Given the description of an element on the screen output the (x, y) to click on. 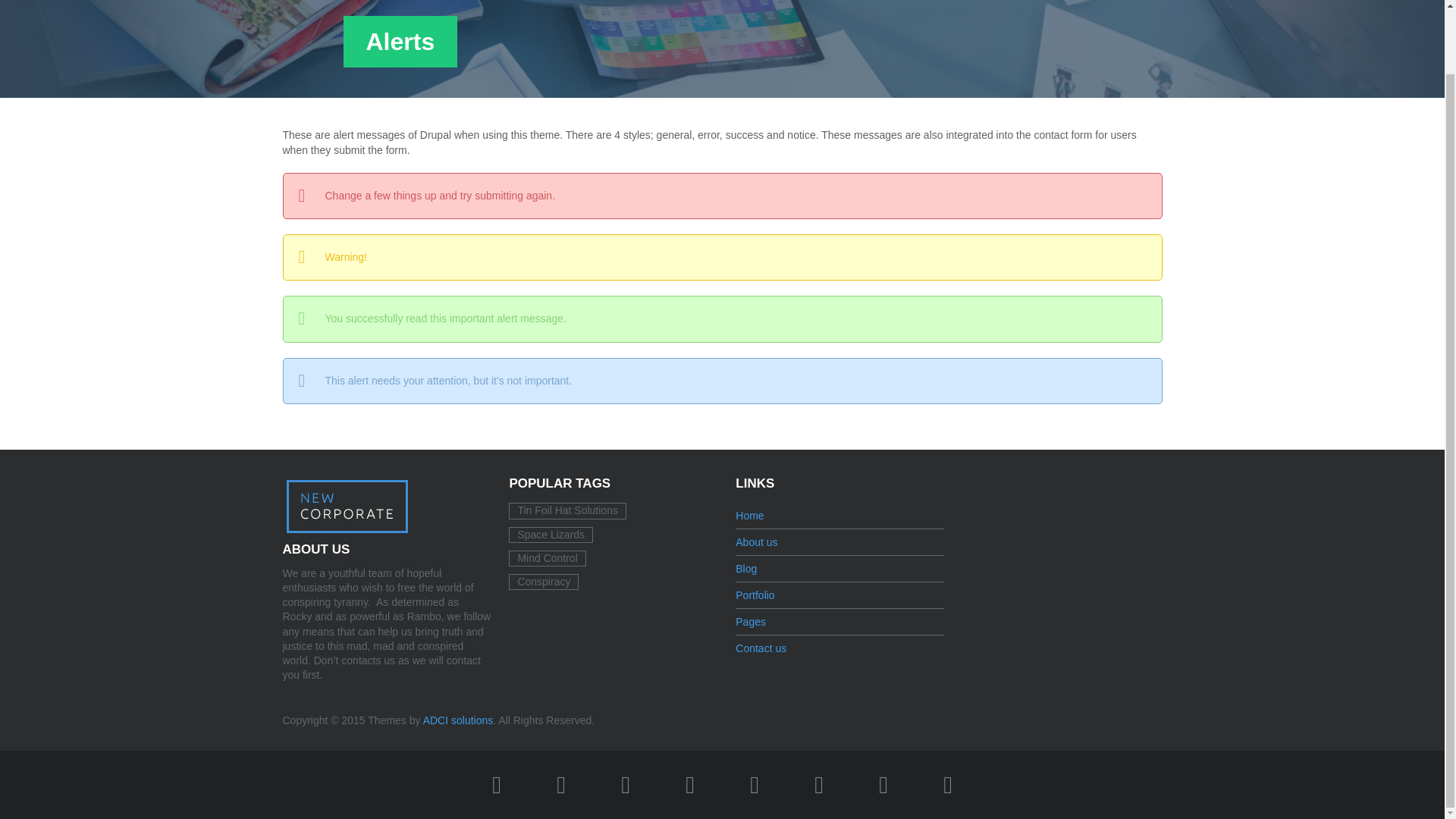
About us (756, 542)
Space Lizards (550, 534)
Mind Control (546, 558)
Conspiracy (543, 581)
ADCI solutions (458, 720)
Alerts (1075, 12)
Home (748, 515)
Pages (750, 621)
Tin Foil Hat Solutions (567, 510)
Portfolio (754, 594)
Column 3 (986, 12)
Blog (746, 568)
drupal development (458, 720)
Contact us (760, 647)
